Given the description of an element on the screen output the (x, y) to click on. 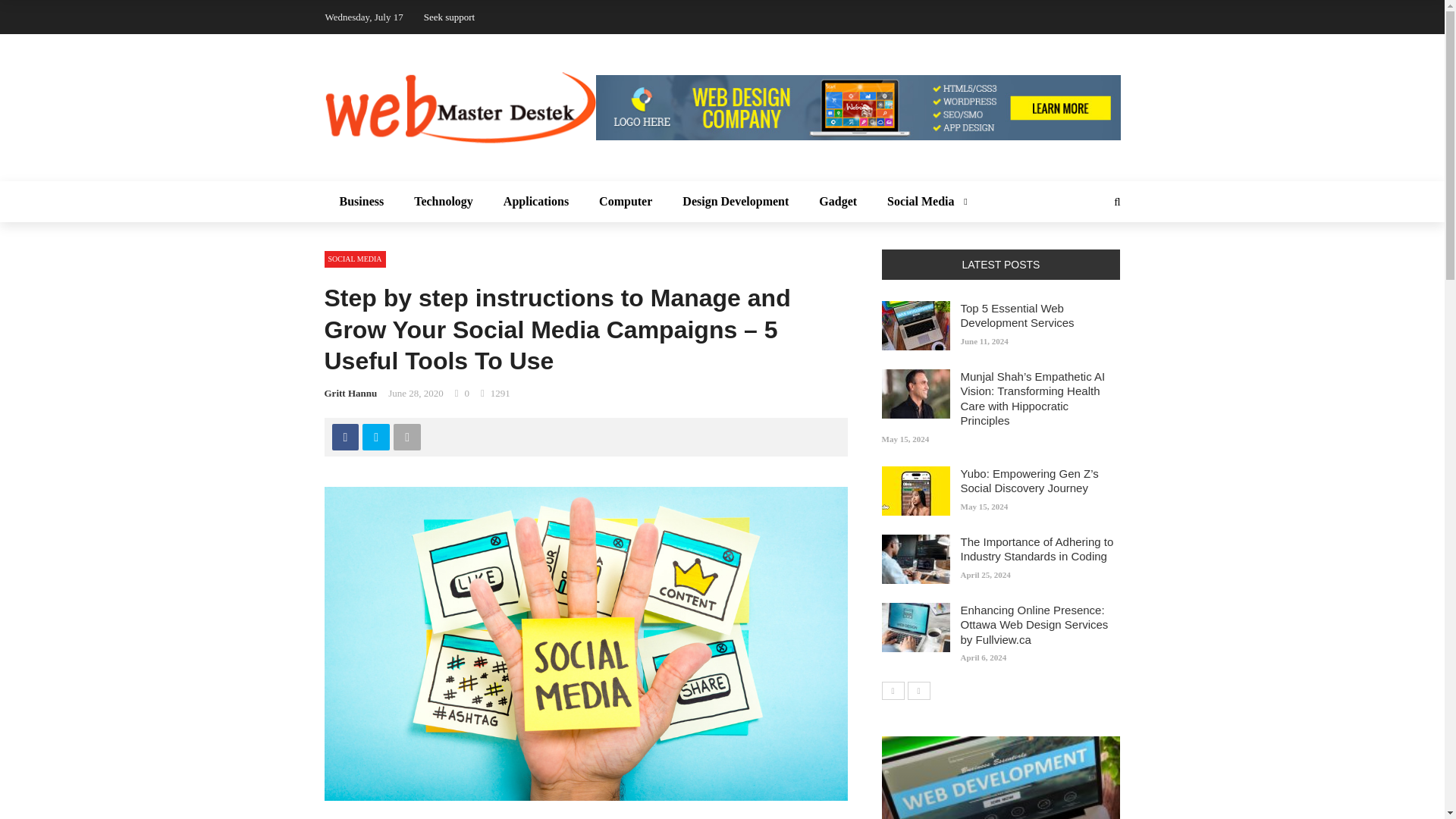
Technology (442, 200)
SOCIAL MEDIA (354, 258)
Social Media (924, 200)
Design Development (734, 200)
Business (361, 200)
Applications (535, 200)
Seek support (449, 16)
Twitter (376, 437)
Gritt Hannu (350, 392)
Facebook (344, 437)
Computer (624, 200)
Gadget (837, 200)
